Given the description of an element on the screen output the (x, y) to click on. 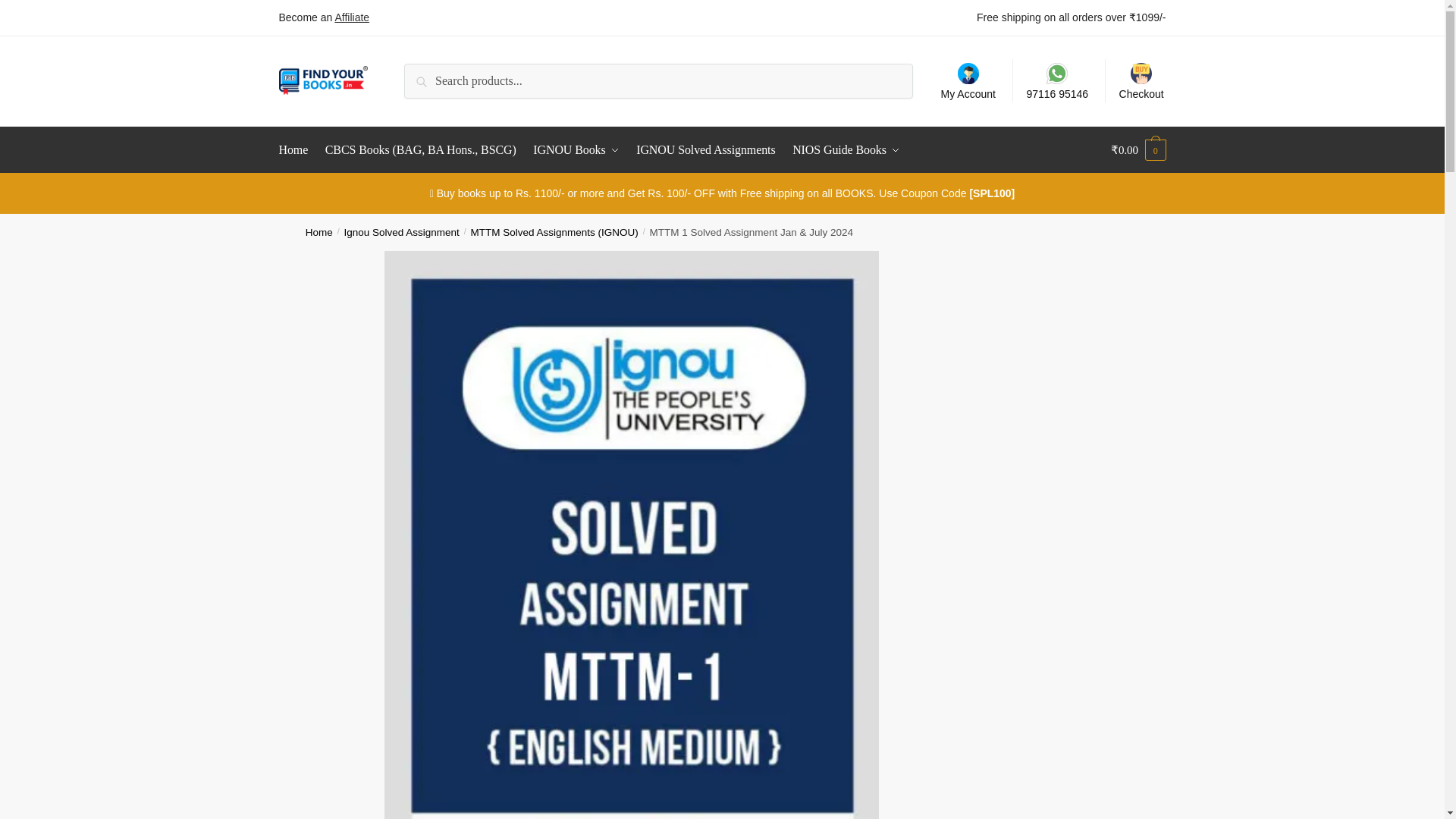
IGNOU Solved Assignments (704, 149)
Ignou Solved Assignment (401, 232)
My Account (967, 80)
View your shopping cart (1138, 149)
Affiliate (351, 17)
NIOS Guide Books (845, 149)
97116 95146 (1056, 80)
Customer Help (1056, 80)
Home (319, 232)
Checkout (1141, 80)
